Given the description of an element on the screen output the (x, y) to click on. 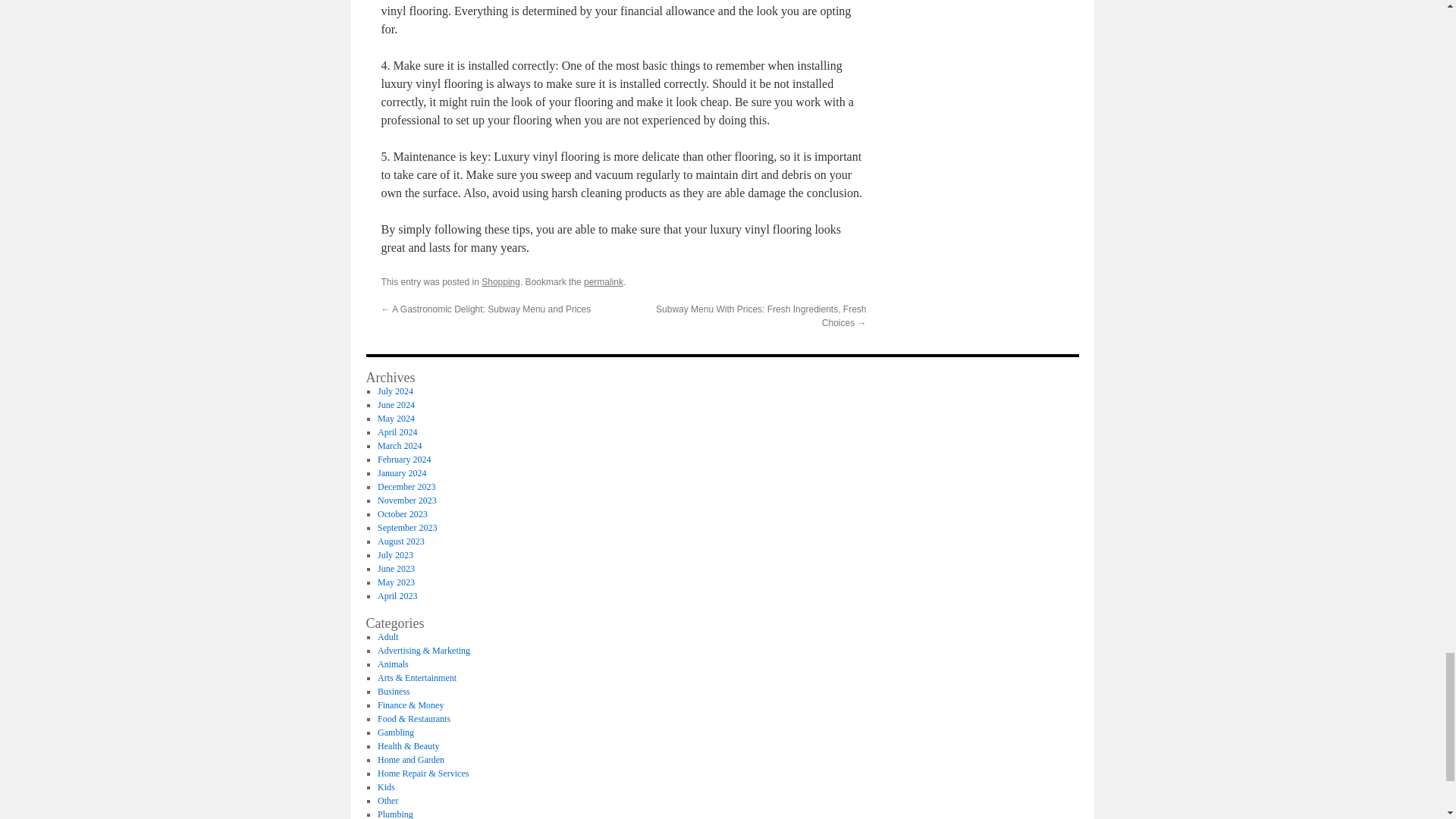
Adult (387, 636)
January 2024 (401, 472)
May 2024 (395, 418)
Shopping (500, 281)
August 2023 (401, 541)
May 2023 (395, 582)
June 2023 (395, 568)
February 2024 (403, 459)
April 2023 (396, 595)
Animals (393, 664)
April 2024 (396, 431)
September 2023 (406, 527)
November 2023 (406, 500)
December 2023 (406, 486)
March 2024 (399, 445)
